Given the description of an element on the screen output the (x, y) to click on. 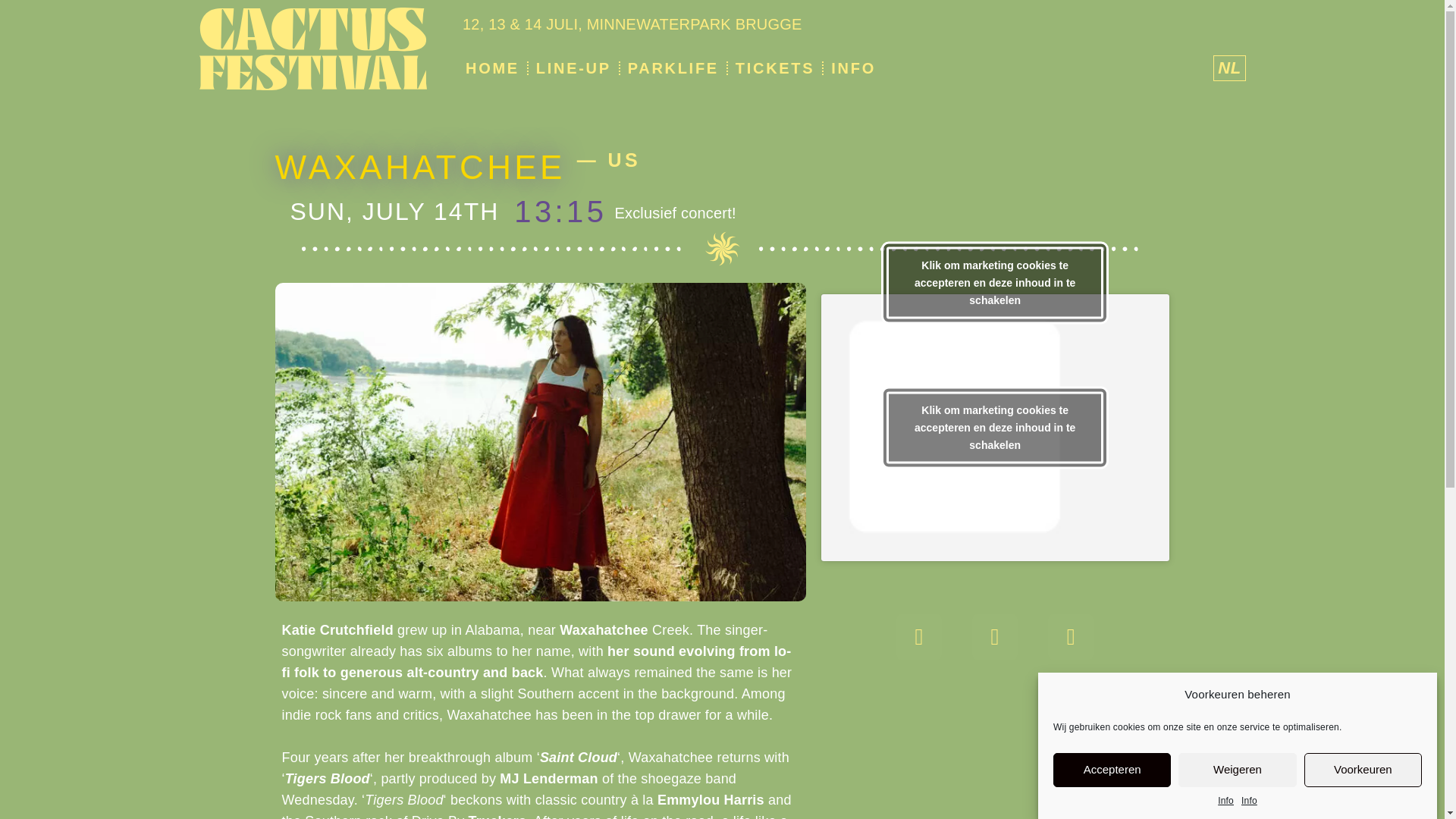
PARKLIFE (673, 68)
INFO (853, 68)
HOME (492, 68)
LINE-UP (573, 68)
TICKETS (774, 68)
NL (1228, 68)
Ga naar de inhoud (11, 31)
